Given the description of an element on the screen output the (x, y) to click on. 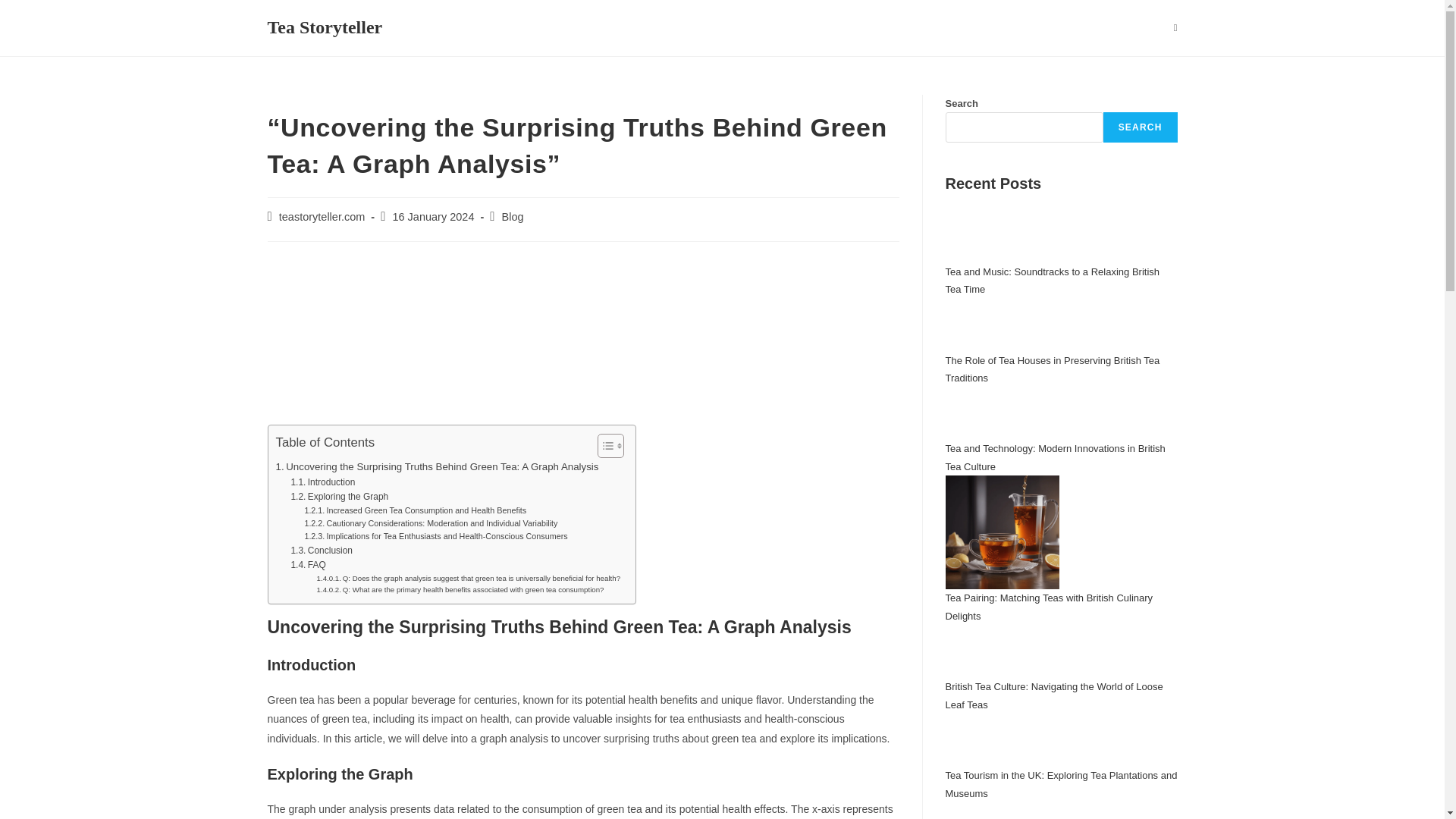
Exploring the Graph (338, 496)
SEARCH (1140, 127)
teastoryteller.com (322, 216)
Introduction (322, 482)
Exploring the Graph (338, 496)
British Tea Culture: Navigating the World of Loose Leaf Teas (1052, 695)
Conclusion (320, 550)
